Given the description of an element on the screen output the (x, y) to click on. 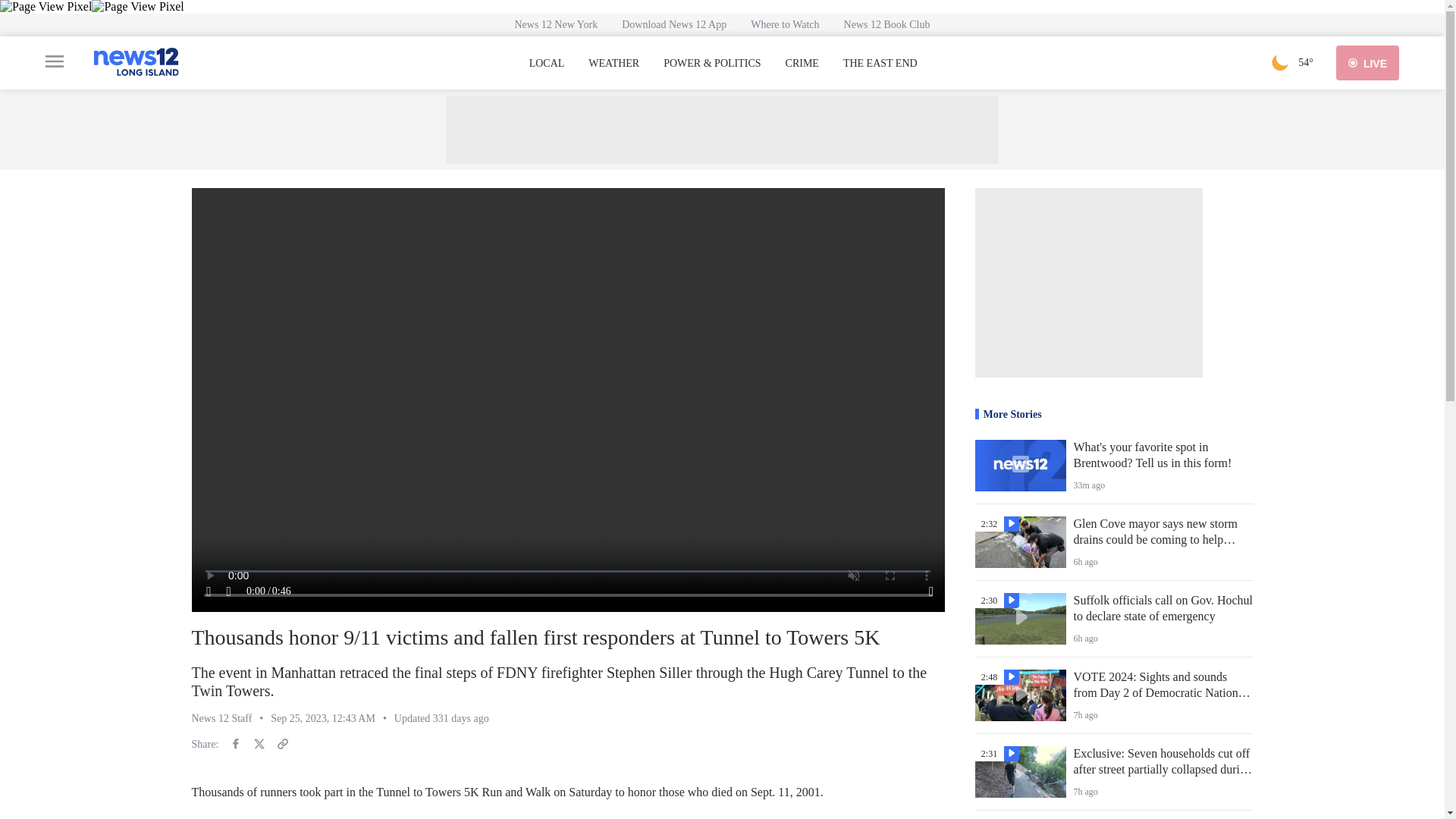
Download News 12 App (673, 24)
LIVE (1367, 62)
CRIME (802, 63)
News 12 New York (556, 24)
Where to Watch (784, 24)
WEATHER (613, 63)
Clear (1280, 62)
LOCAL (546, 63)
THE EAST END (880, 63)
News 12 Book Club (886, 24)
